Given the description of an element on the screen output the (x, y) to click on. 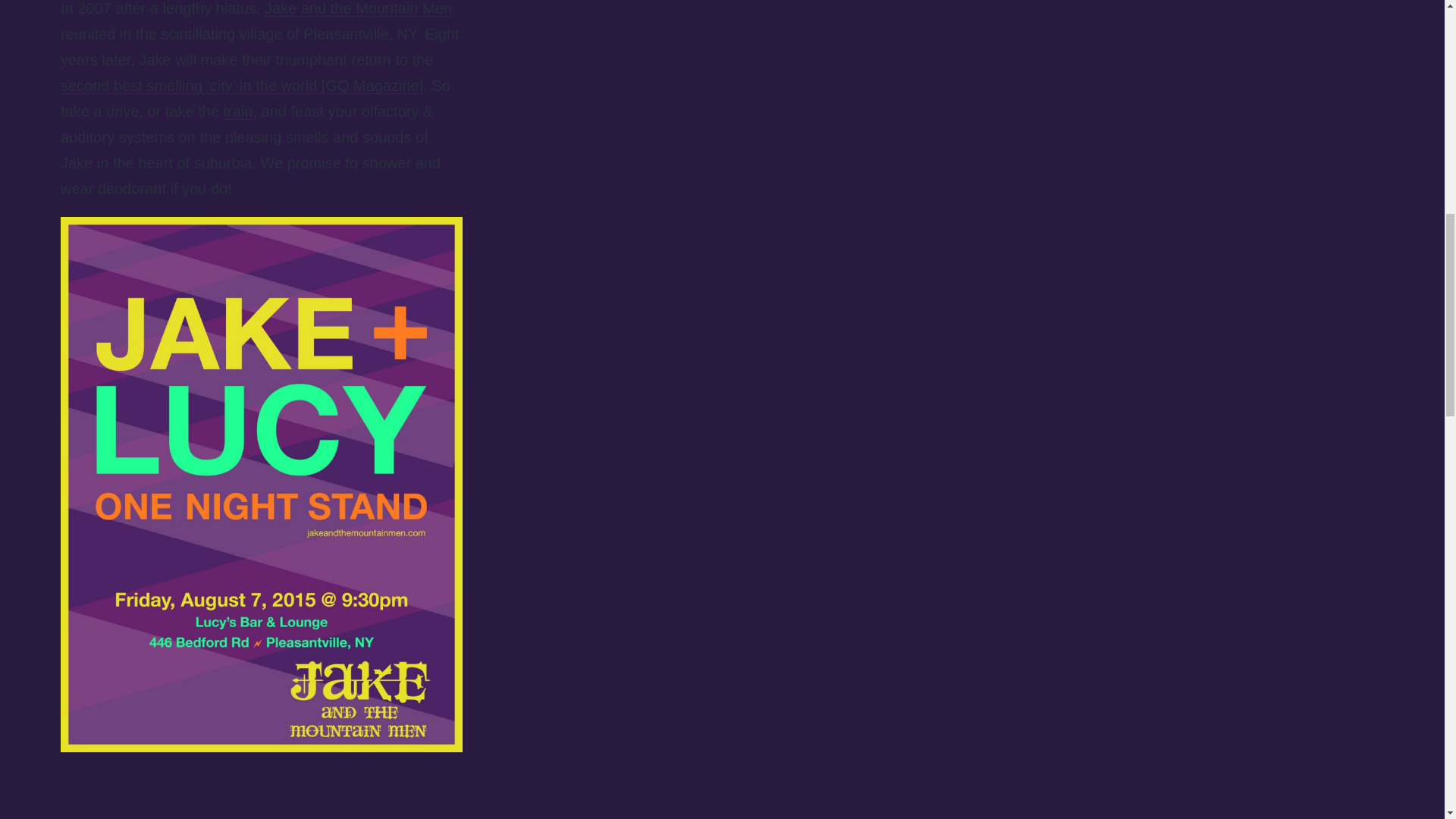
Jake and the Mountain Men (357, 8)
train (238, 111)
